Given the description of an element on the screen output the (x, y) to click on. 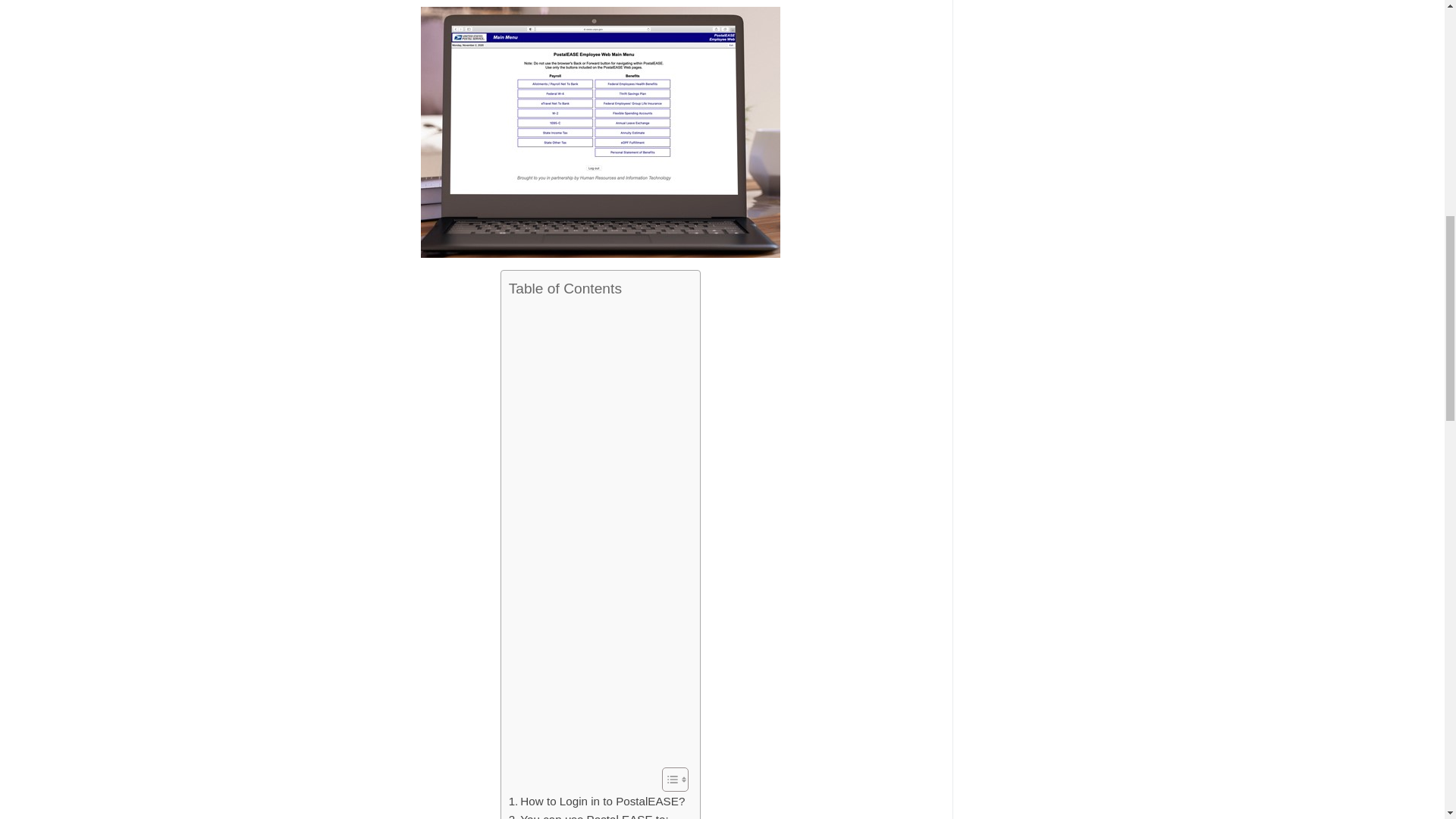
How to Login in to PostalEASE? (596, 801)
How to Login in to PostalEASE? (596, 801)
You can use Postal EASE to: (588, 814)
You can use Postal EASE to: (588, 814)
